Given the description of an element on the screen output the (x, y) to click on. 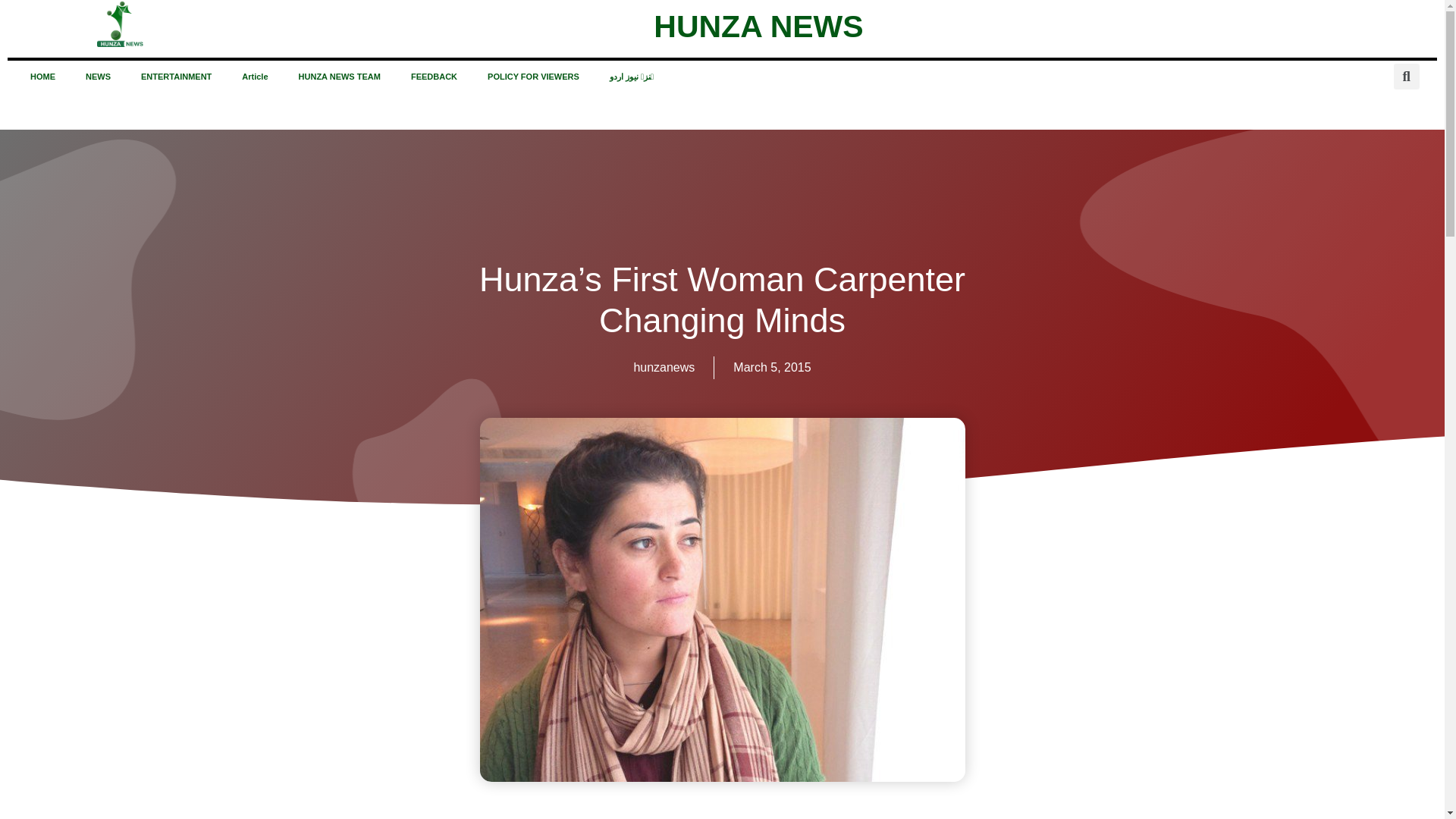
NEWS (97, 76)
Article (254, 76)
HOME (41, 76)
POLICY FOR VIEWERS (532, 76)
FEEDBACK (433, 76)
ENTERTAINMENT (176, 76)
HUNZA NEWS TEAM (339, 76)
HUNZA NEWS (758, 26)
